Given the description of an element on the screen output the (x, y) to click on. 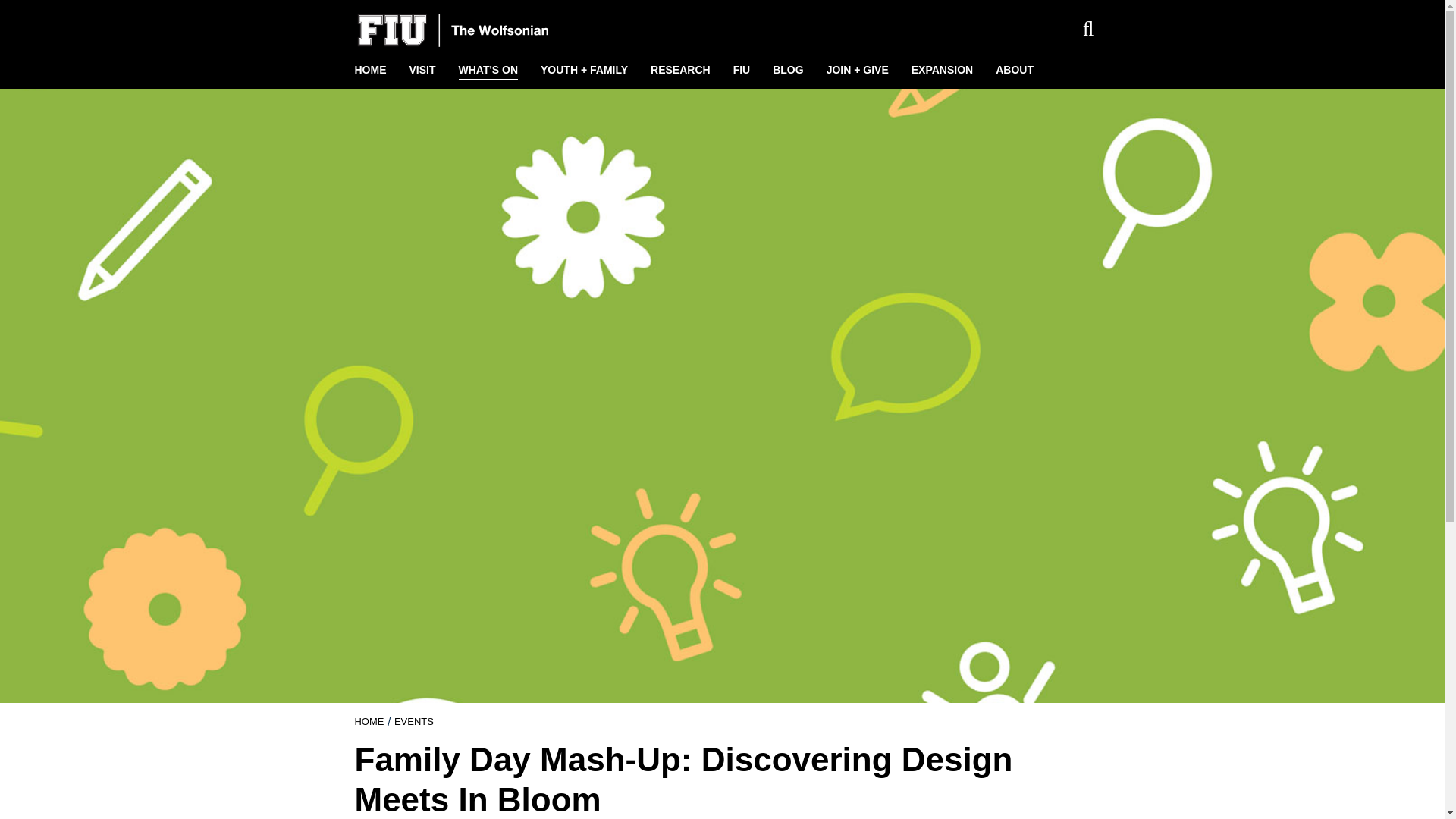
HOME (369, 70)
Library (102, 219)
WHAT'S ON (487, 70)
RESEARCH (680, 70)
BLOG (787, 70)
Publications (102, 243)
VISIT (421, 70)
Events (413, 721)
Shop (102, 195)
Tours (102, 146)
